Given the description of an element on the screen output the (x, y) to click on. 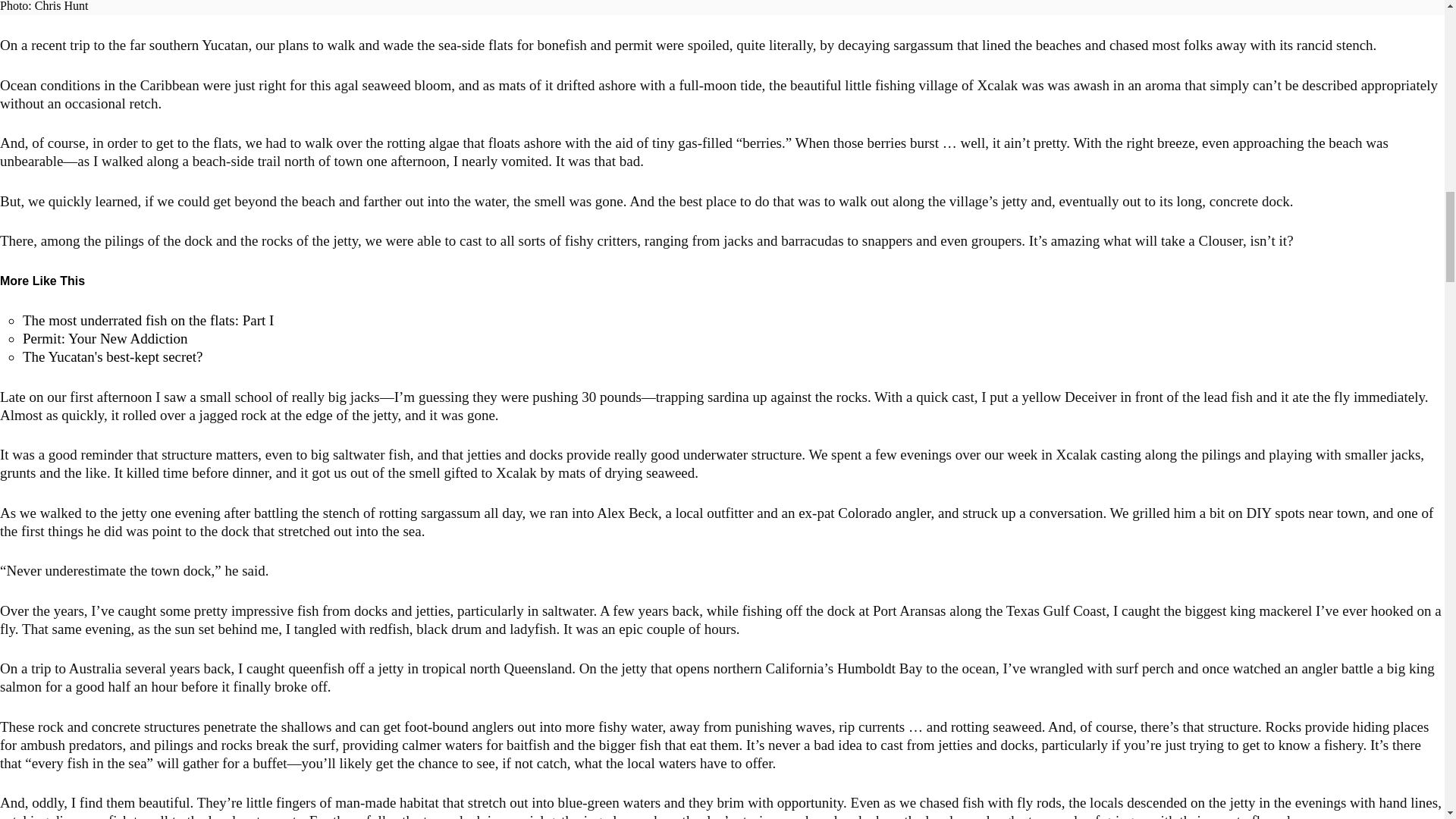
The most underrated fish on the flats: Part I (148, 320)
The Yucatan's best-kept secret? (112, 356)
Permit: Your New Addiction (105, 338)
